Given the description of an element on the screen output the (x, y) to click on. 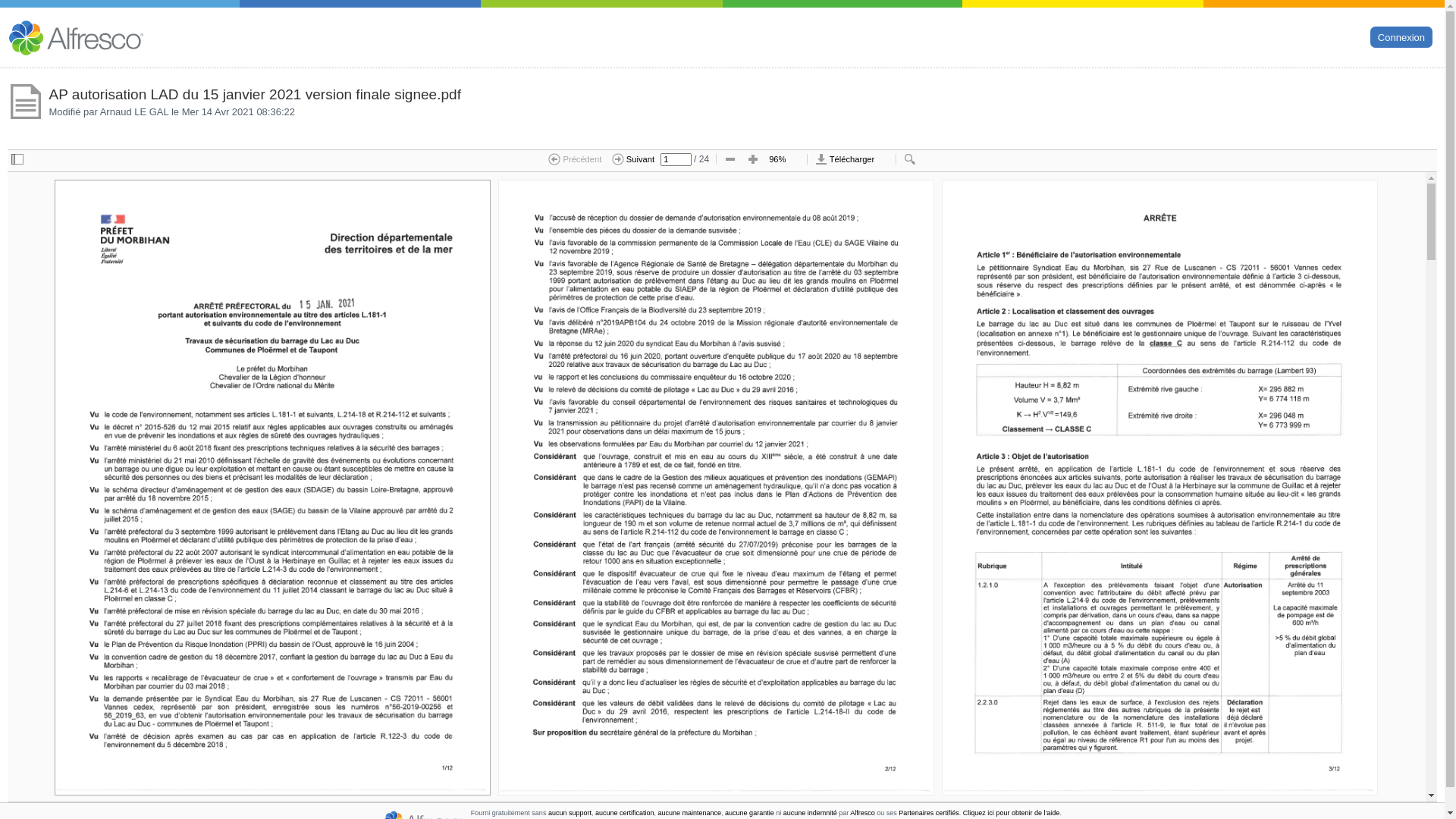
Suivant Element type: text (632, 159)
Cliquez ici pour obtenir de l'aide Element type: text (1011, 812)
Rechercher (Ctrl+F) Element type: hover (909, 159)
aucune garantie Element type: text (749, 812)
aucune certification Element type: text (624, 812)
Alfresco Element type: text (862, 812)
Connexion Element type: text (1401, 36)
Zoom avant Element type: hover (752, 159)
aucun support Element type: text (569, 812)
aucune maintenance Element type: text (689, 812)
96% Element type: text (783, 159)
